Given the description of an element on the screen output the (x, y) to click on. 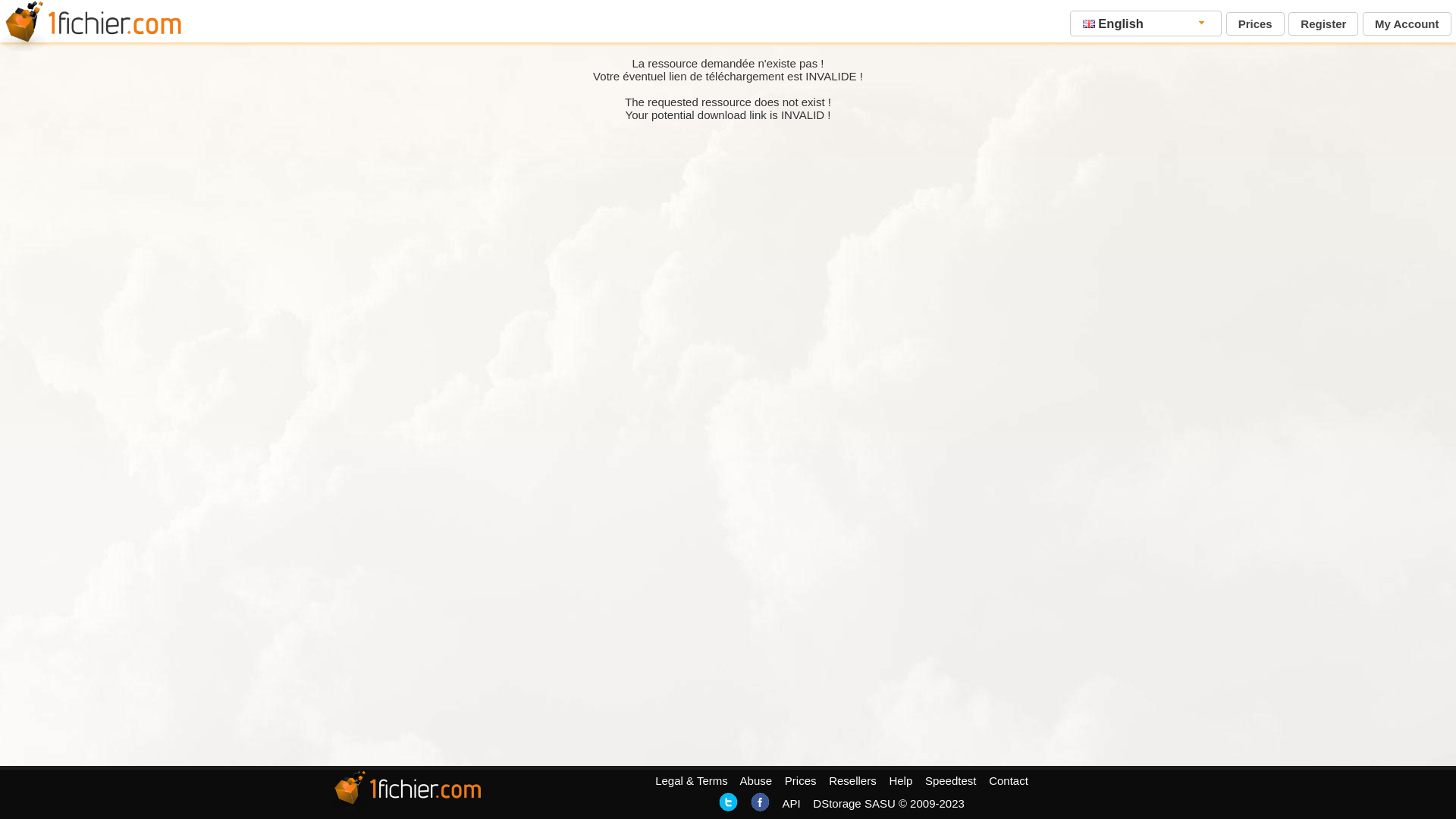
My Account Element type: text (1406, 23)
Speedtest Element type: text (950, 780)
Register Element type: text (1323, 23)
Resellers Element type: text (852, 780)
Abuse Element type: text (756, 780)
API Element type: text (790, 803)
Prices Element type: text (800, 780)
Legal & Terms Element type: text (691, 780)
Prices Element type: text (1255, 23)
Contact Element type: text (1008, 780)
Help Element type: text (900, 780)
